Given the description of an element on the screen output the (x, y) to click on. 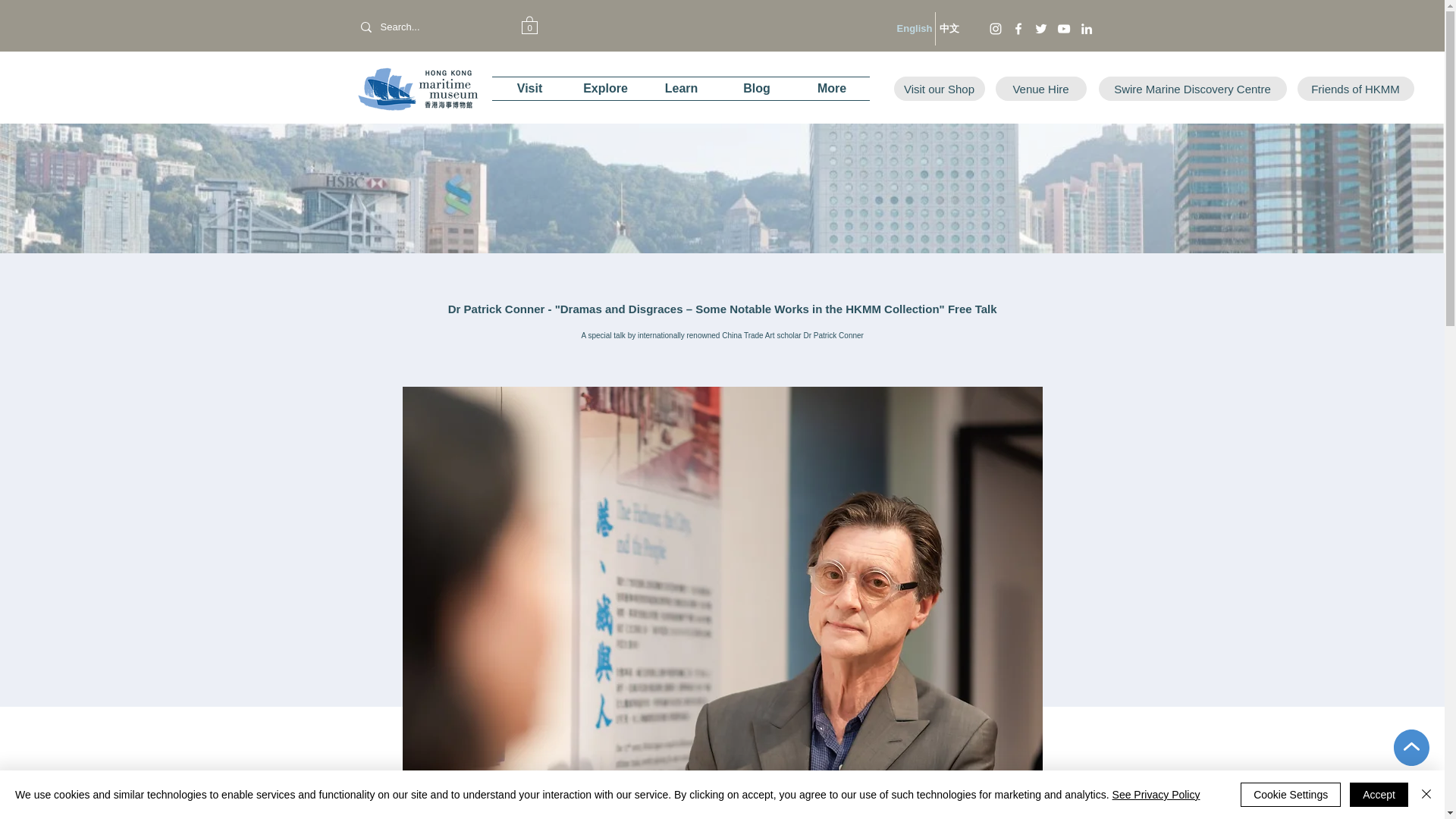
Visit our Shop (938, 88)
Friends of HKMM (1355, 88)
Swire Marine Discovery Centre (1191, 88)
English (913, 28)
Venue Hire (1040, 88)
Blog (756, 87)
